Given the description of an element on the screen output the (x, y) to click on. 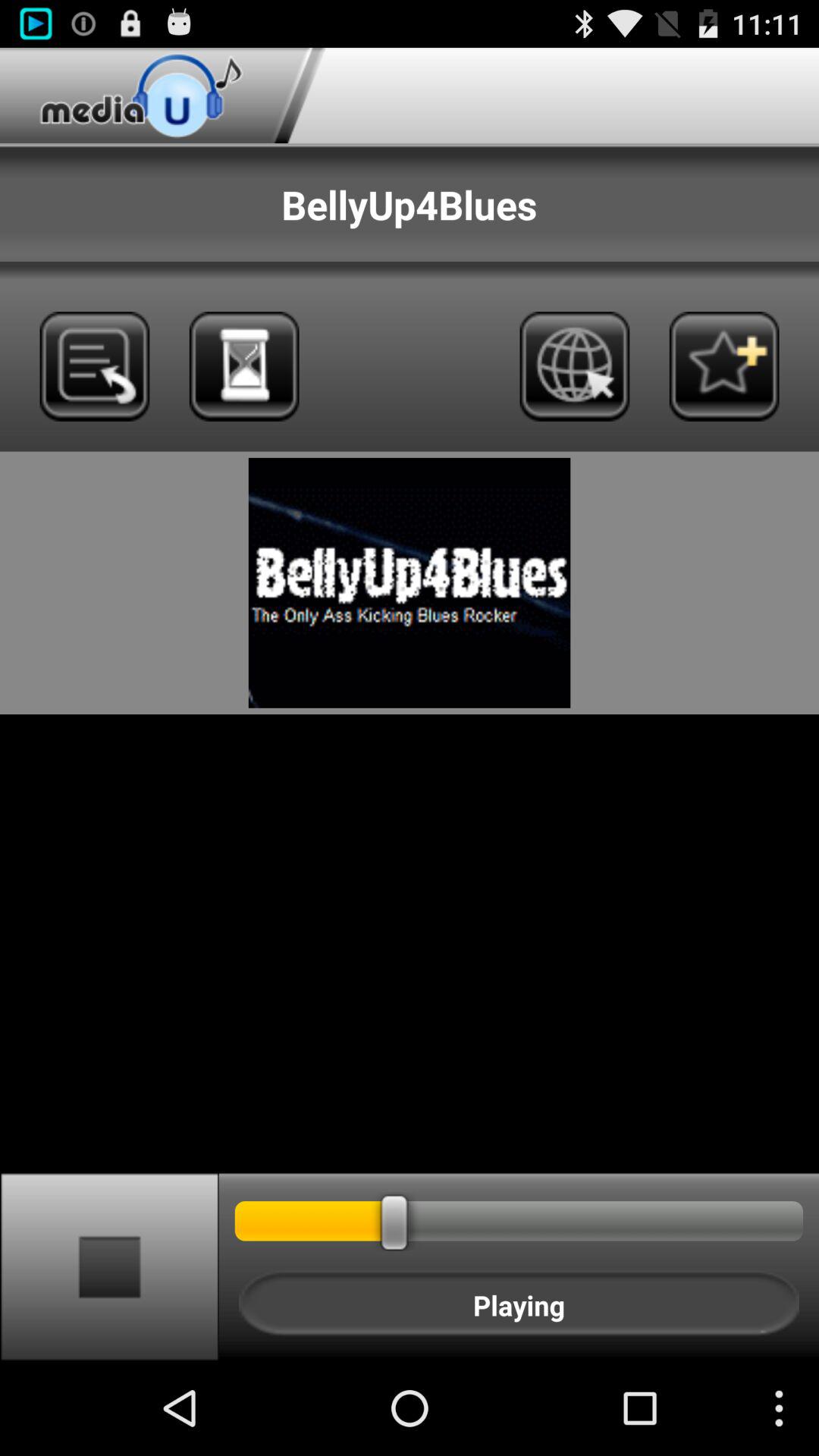
open button at the bottom left corner (109, 1266)
